Given the description of an element on the screen output the (x, y) to click on. 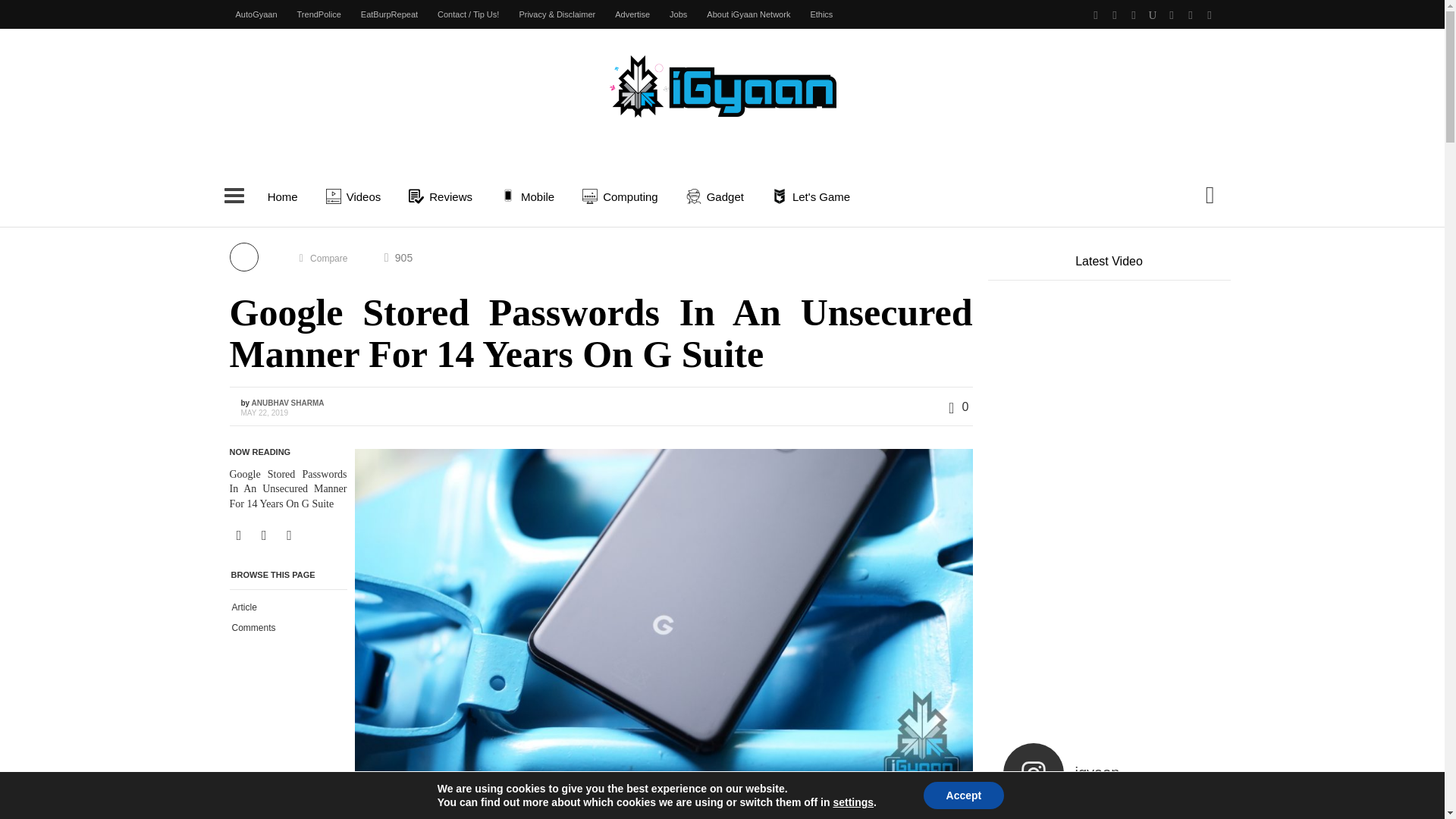
AutoGyaan (255, 14)
Videos (355, 196)
TrendPolice (318, 14)
EatBurpRepeat (389, 14)
Jobs (678, 14)
Home (282, 196)
Advertise (632, 14)
Ethics (821, 14)
About iGyaan Network (748, 14)
